Given the description of an element on the screen output the (x, y) to click on. 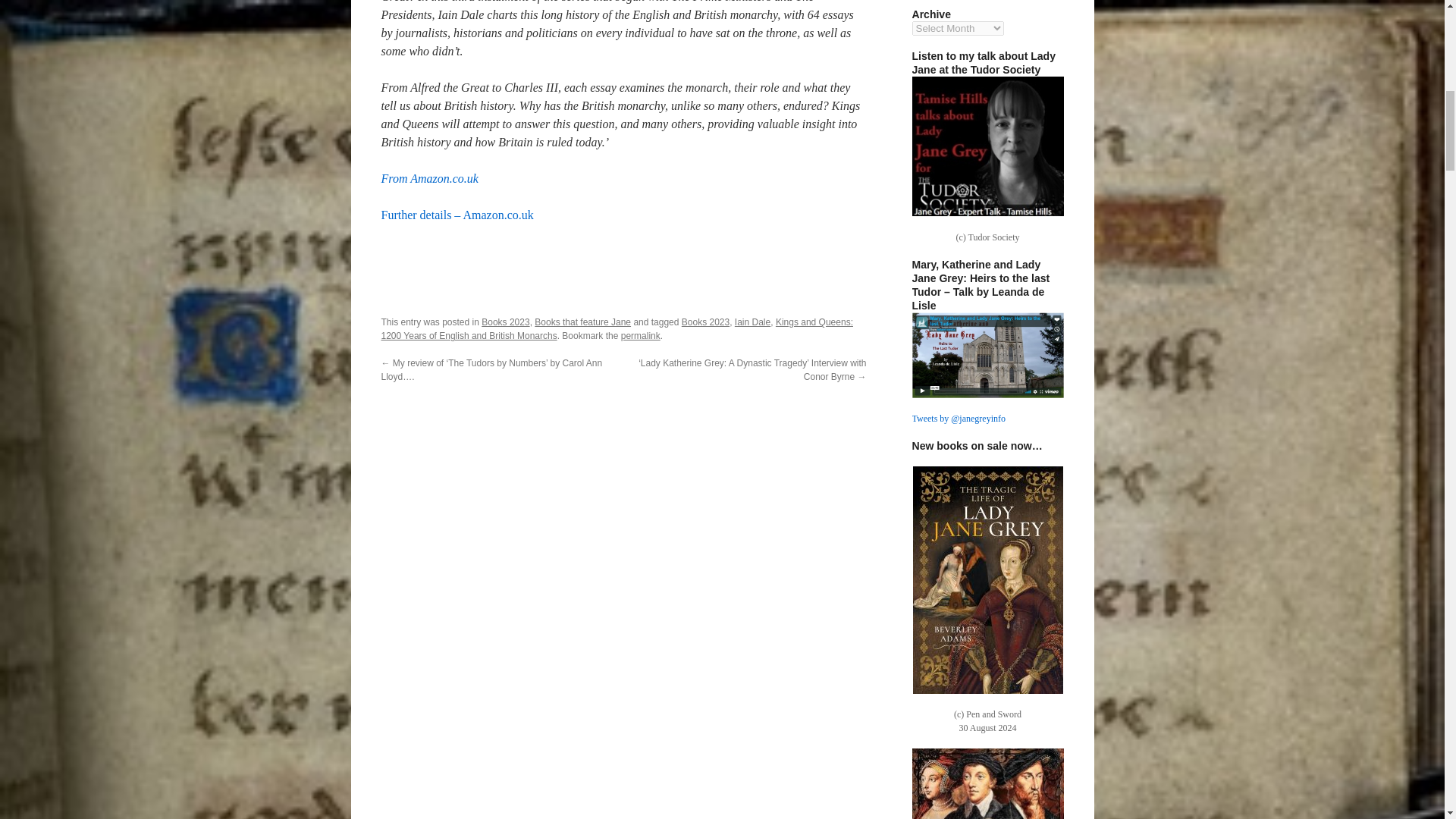
permalink (641, 335)
Books 2023 (705, 321)
Books that feature Jane (582, 321)
Kings and Queens: 1200 Years of English and British Monarchs (615, 328)
From Amazon.co.uk (428, 178)
Books 2023 (505, 321)
Listen to my talk about Lady Jane at the Tudor Society (986, 146)
Iain Dale (752, 321)
